Given the description of an element on the screen output the (x, y) to click on. 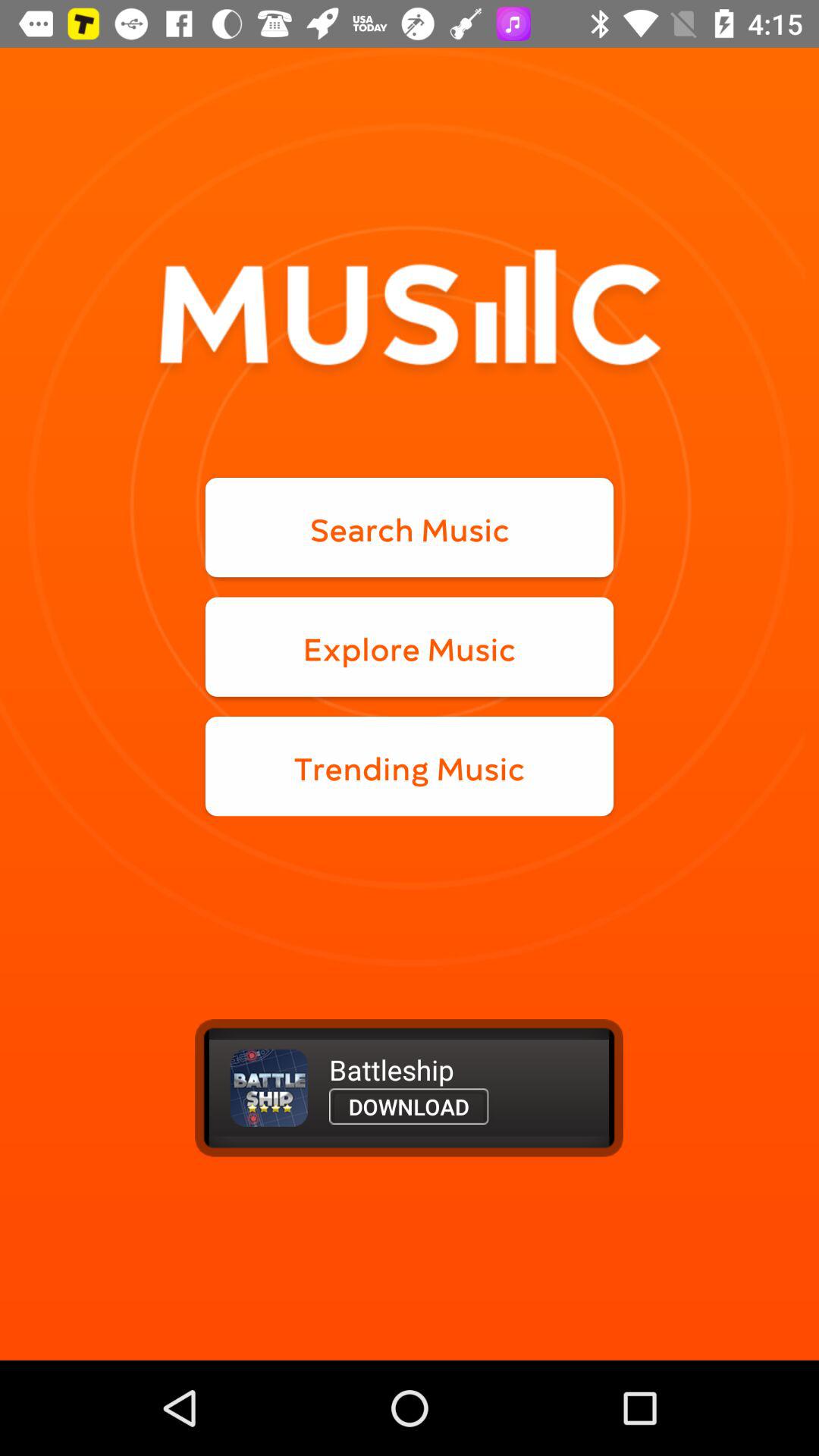
swipe until download item (408, 1106)
